Given the description of an element on the screen output the (x, y) to click on. 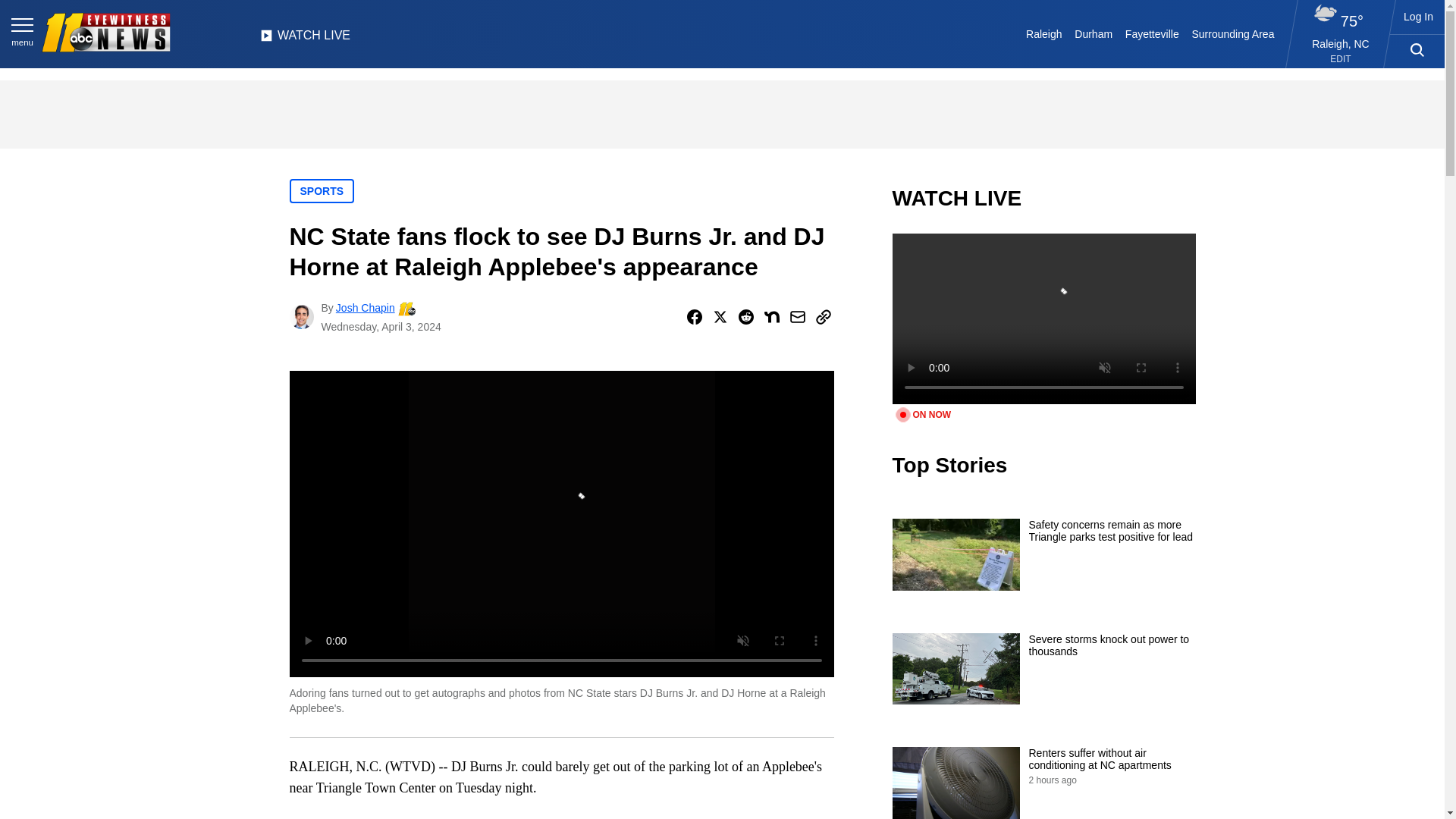
Fayetteville (1151, 33)
WATCH LIVE (305, 39)
EDIT (1340, 59)
video.title (1043, 318)
Surrounding Area (1233, 33)
Raleigh (1044, 33)
Durham (1093, 33)
Raleigh, NC (1340, 43)
